Given the description of an element on the screen output the (x, y) to click on. 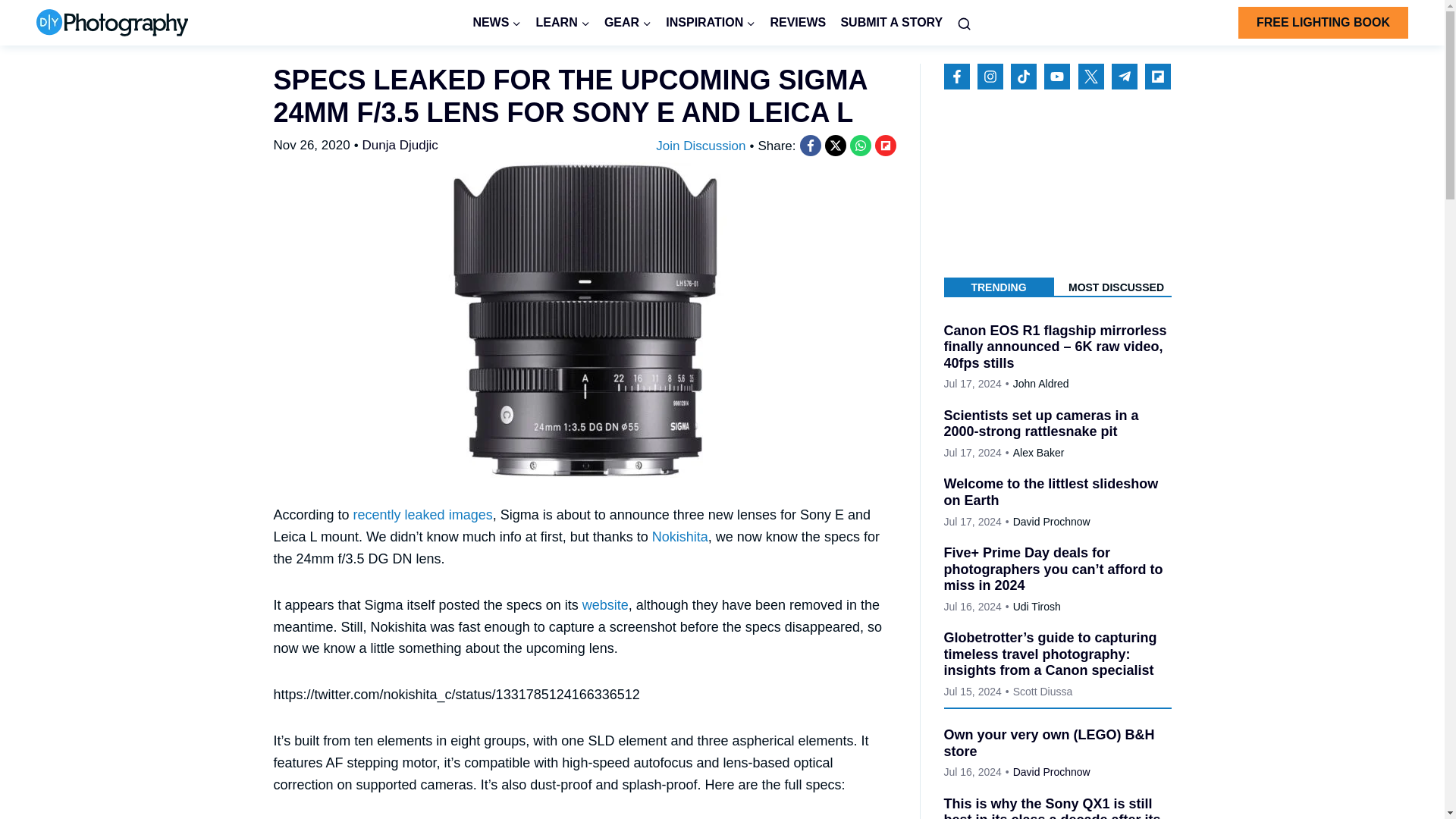
NEWS (496, 22)
